Given the description of an element on the screen output the (x, y) to click on. 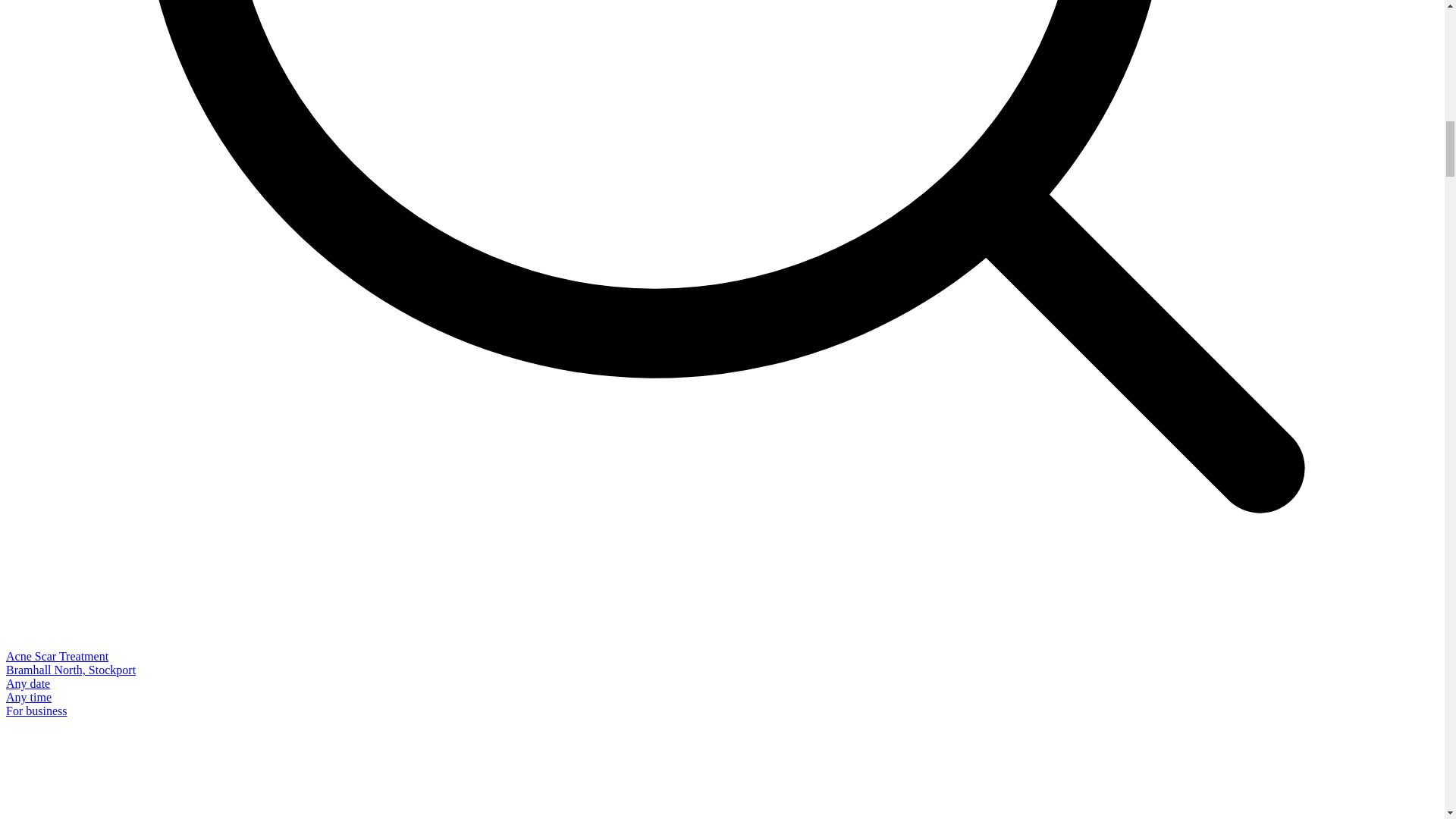
For business (35, 710)
For business (35, 710)
